Given the description of an element on the screen output the (x, y) to click on. 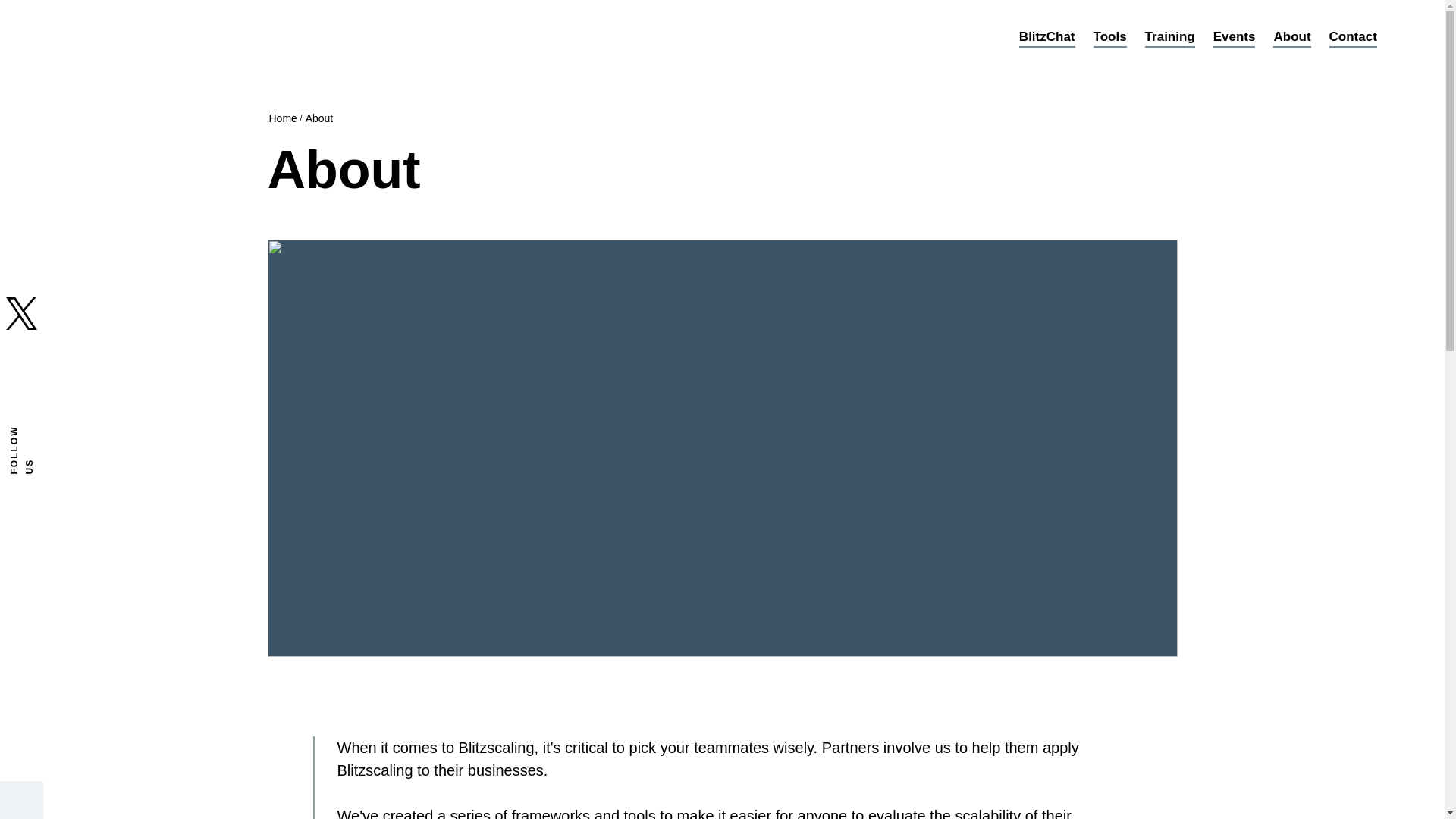
BlitzChat (1047, 37)
Training (1169, 37)
Tools (1109, 37)
Home (282, 117)
Contact (1353, 37)
About (1291, 37)
Events (1234, 37)
